Given the description of an element on the screen output the (x, y) to click on. 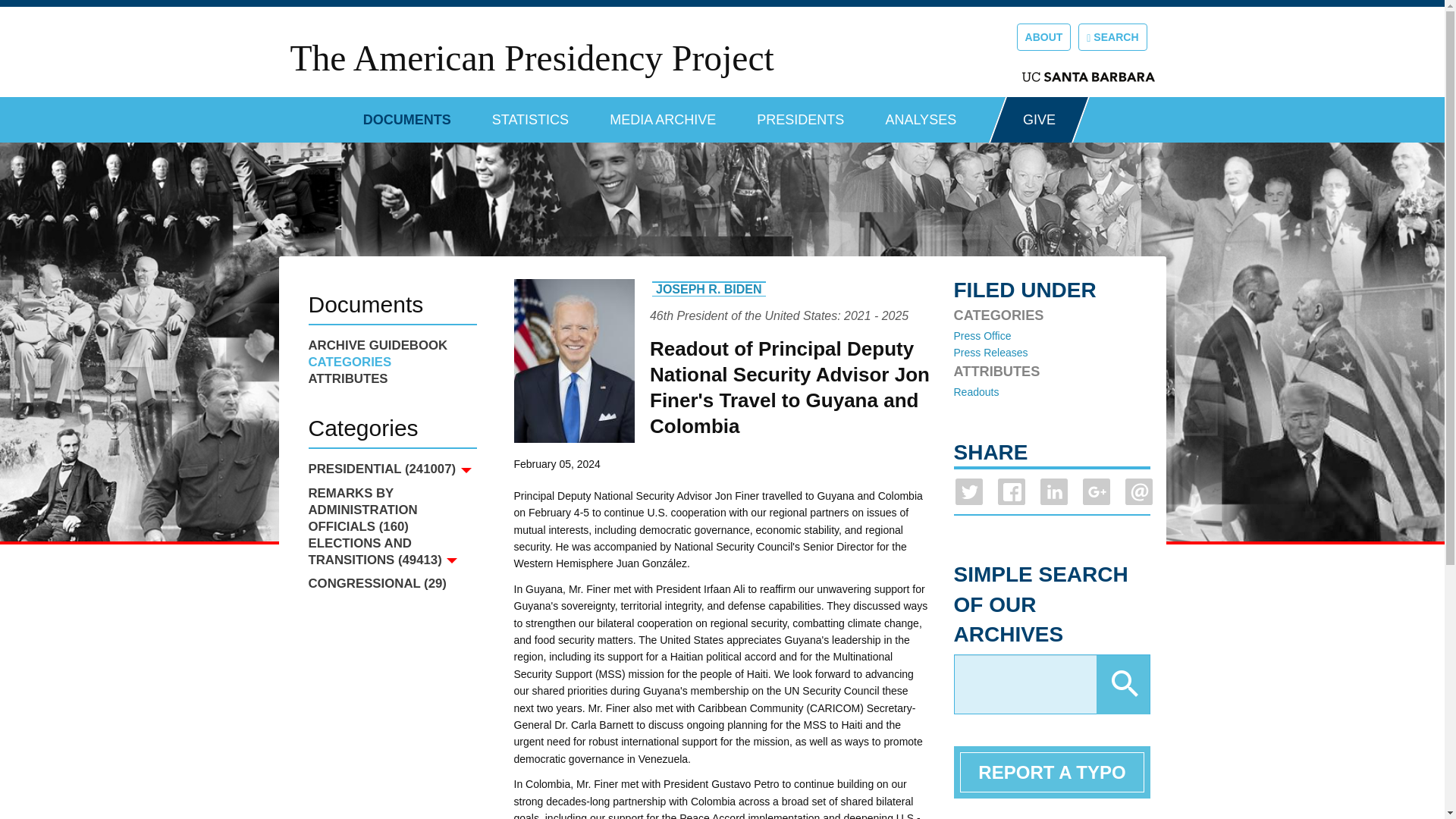
DOCUMENTS (406, 113)
 SEARCH (1112, 36)
MEDIA ARCHIVE (663, 113)
PRESIDENTS (800, 113)
CATEGORIES (391, 362)
ARCHIVE GUIDEBOOK (391, 345)
ATTRIBUTES (391, 379)
STATISTICS (530, 113)
GIVE (1038, 119)
ANALYSES (920, 113)
The American Presidency Project (531, 57)
ABOUT (1043, 36)
